Given the description of an element on the screen output the (x, y) to click on. 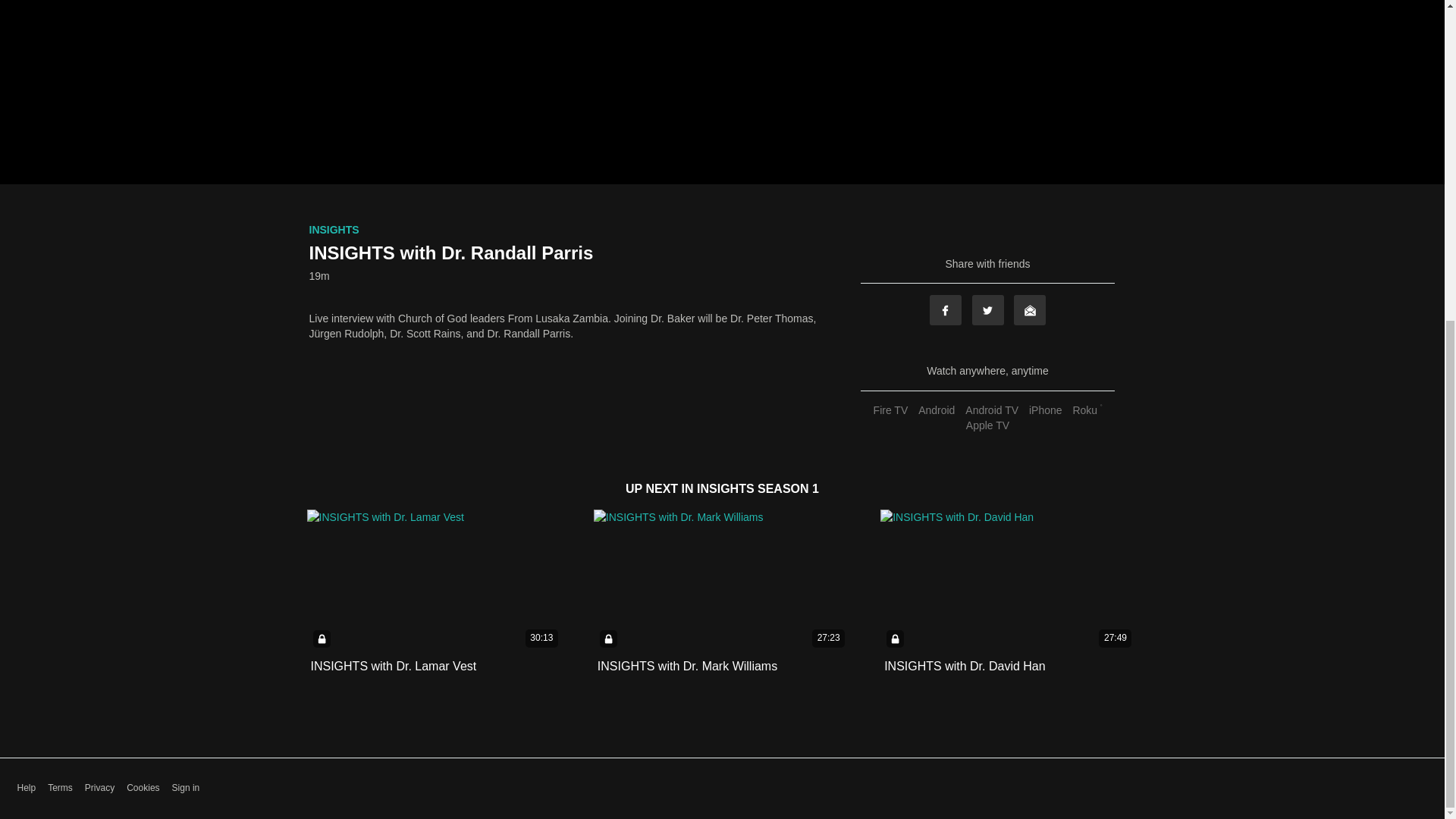
INSIGHTS with Dr. Lamar Vest (394, 666)
Fire TV (890, 410)
Apple TV (987, 425)
30:13 (434, 580)
Android (936, 410)
INSIGHTS with Dr. David Han (964, 666)
Terms (60, 788)
Twitter (988, 309)
INSIGHTS with Dr. Mark Williams (686, 666)
INSIGHTS SEASON 1 (757, 488)
27:49 (1008, 580)
Sign in (185, 788)
Cookies (142, 788)
INSIGHTS with Dr. Lamar Vest (394, 666)
Android TV (991, 410)
